Given the description of an element on the screen output the (x, y) to click on. 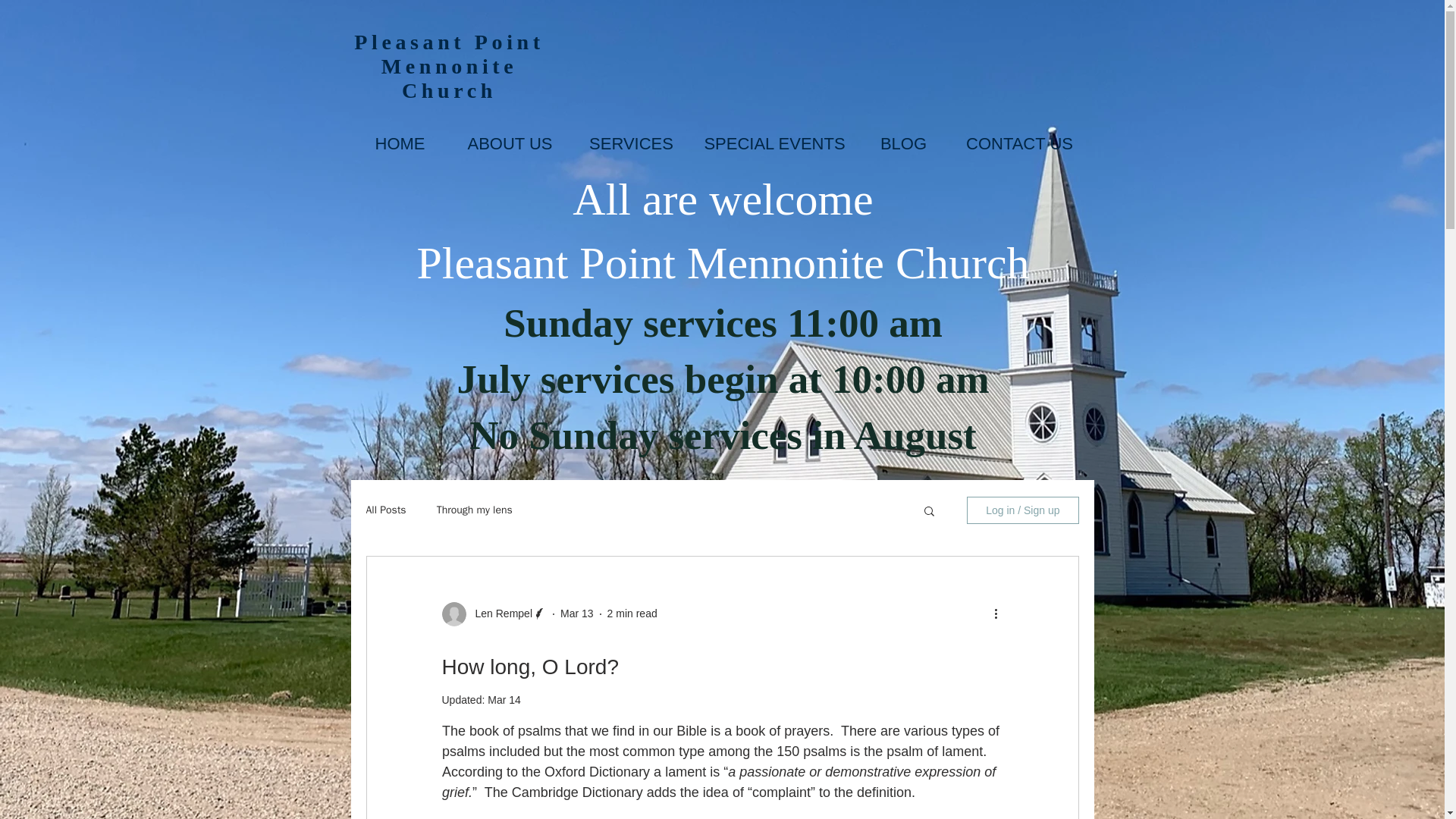
SPECIAL EVENTS (775, 143)
Pleasant Point Mennonite Church (448, 66)
Through my lens (474, 509)
SERVICES (631, 143)
Mar 14 (504, 699)
2 min read (632, 613)
All Posts (385, 509)
ABOUT US (509, 143)
HOME (399, 143)
BLOG (903, 143)
CONTACT US (1019, 143)
Len Rempel (498, 613)
Mar 13 (577, 613)
